Given the description of an element on the screen output the (x, y) to click on. 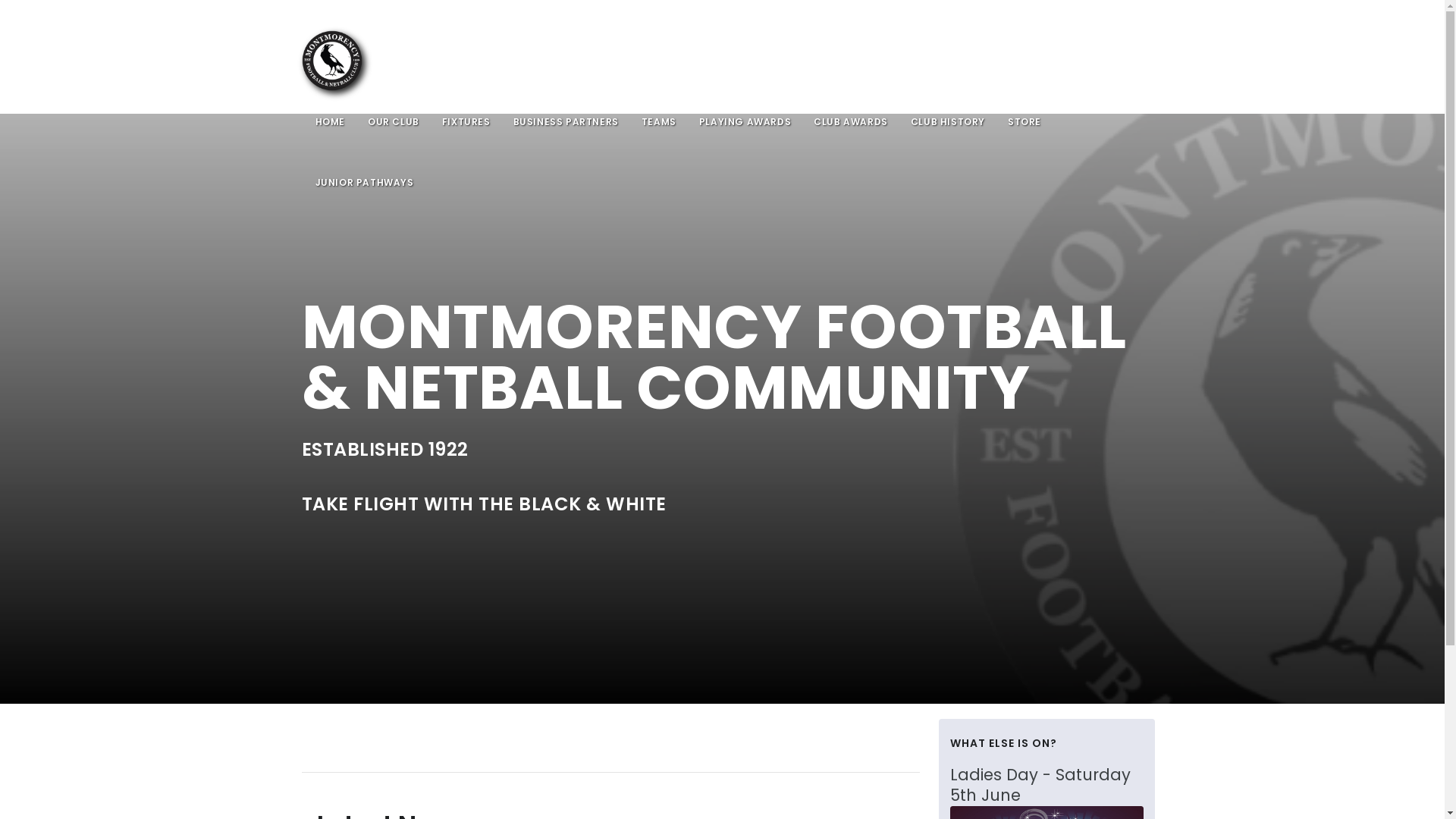
Ladies Day - Saturday 5th June Element type: text (1045, 785)
STORE Element type: text (1024, 121)
HOME Element type: text (330, 121)
OUR CLUB Element type: text (393, 121)
PLAYING AWARDS Element type: text (745, 121)
CLUB AWARDS Element type: text (850, 121)
CLUB HISTORY Element type: text (947, 121)
FIXTURES Element type: text (466, 121)
BUSINESS PARTNERS Element type: text (565, 121)
TEAMS Element type: text (658, 121)
JUNIOR PATHWAYS Element type: text (364, 182)
